Given the description of an element on the screen output the (x, y) to click on. 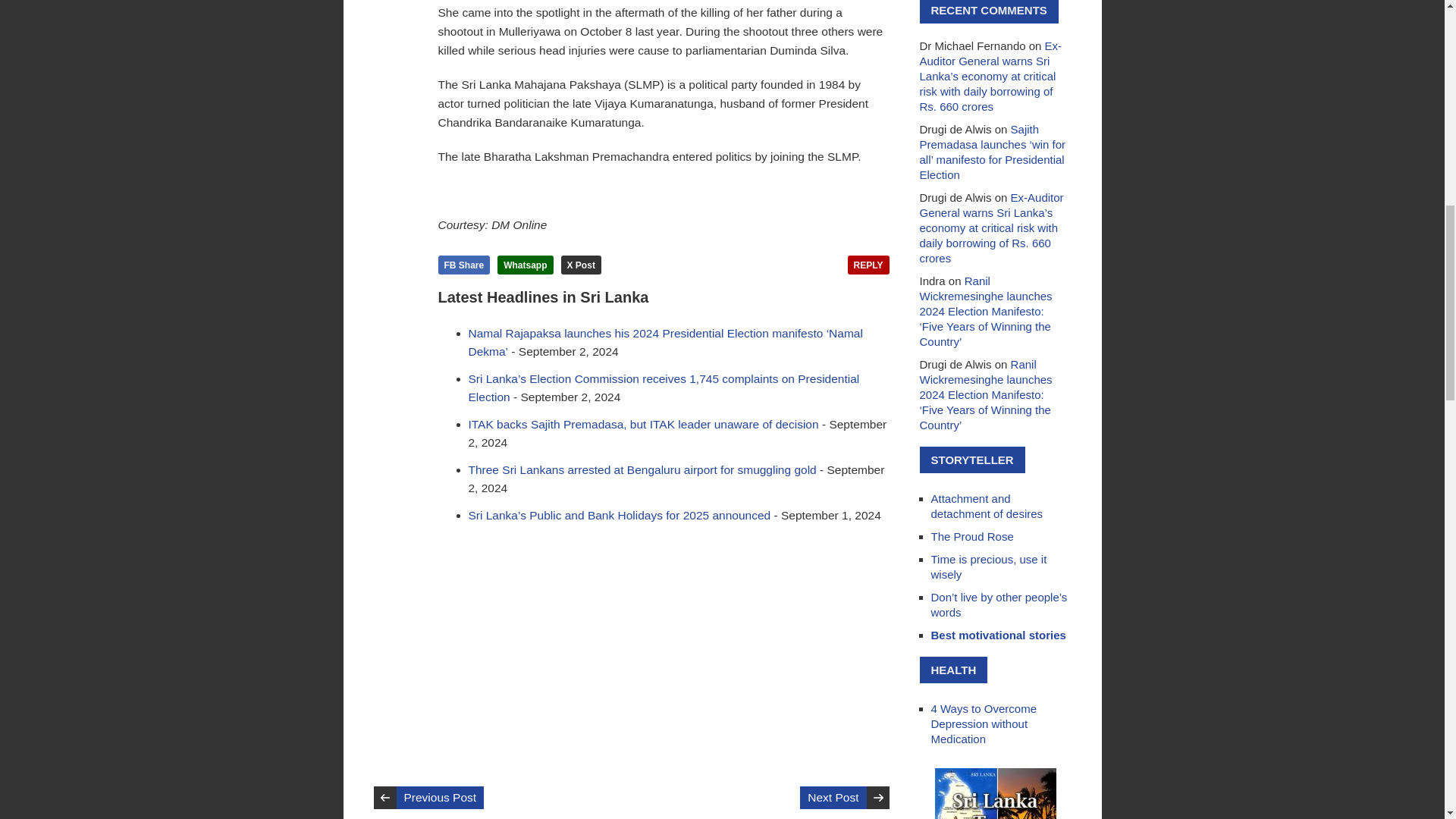
X Post (580, 264)
Previous Post (439, 797)
Share on Whatsapp (525, 264)
Share on Twitter (580, 264)
Write your Comments (868, 264)
FB Share (464, 264)
Next Post (832, 797)
Advertisement (663, 645)
